Given the description of an element on the screen output the (x, y) to click on. 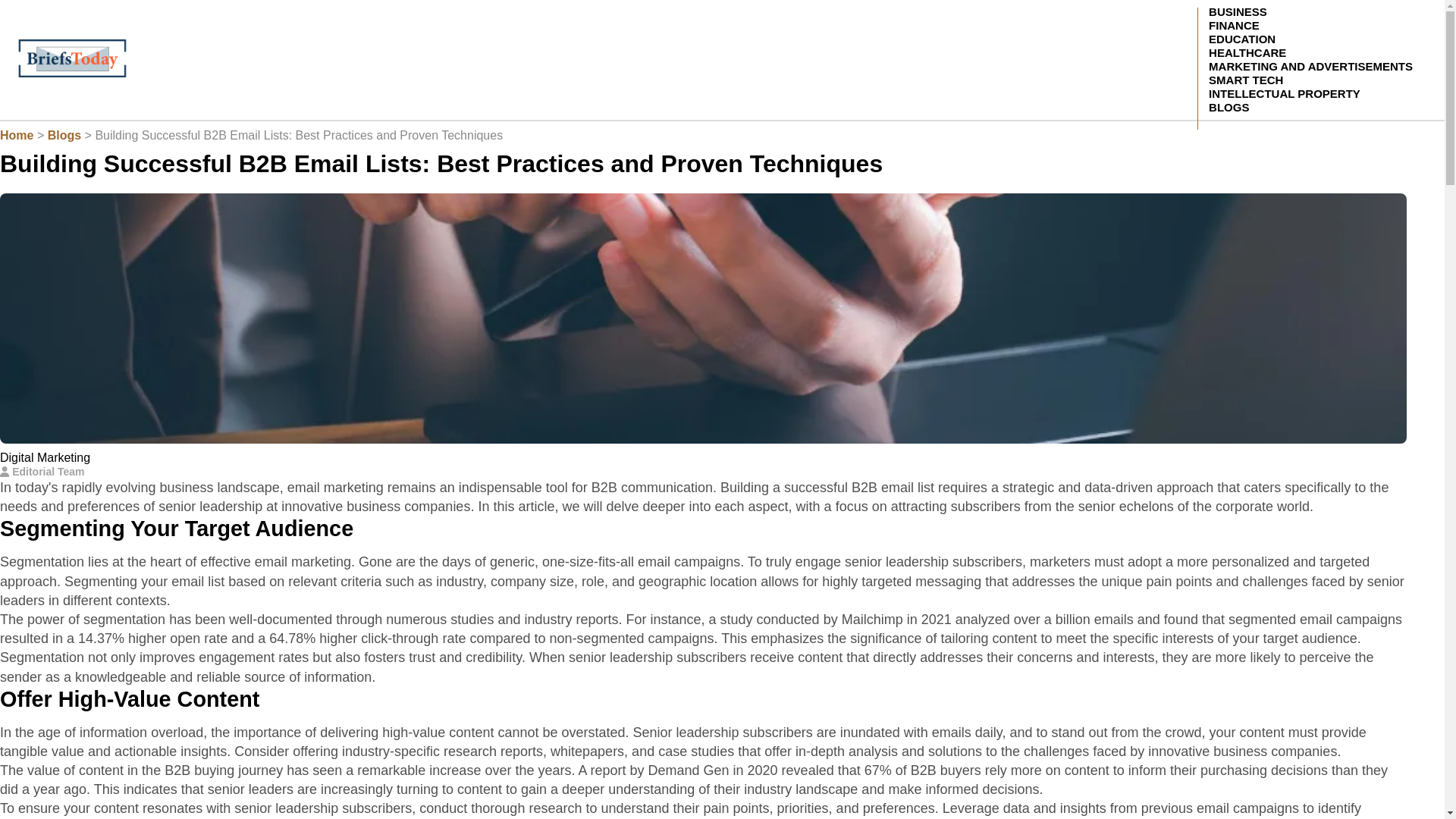
Blogs (64, 134)
MARKETING AND ADVERTISEMENTS (1309, 65)
Home (16, 134)
BUSINESS (1237, 11)
INTELLECTUAL PROPERTY (1283, 92)
SMART TECH (1245, 79)
HEALTHCARE (1246, 51)
BriefsToday (71, 58)
EDUCATION (1241, 38)
FINANCE (1233, 24)
BLOGS (1228, 106)
